Given the description of an element on the screen output the (x, y) to click on. 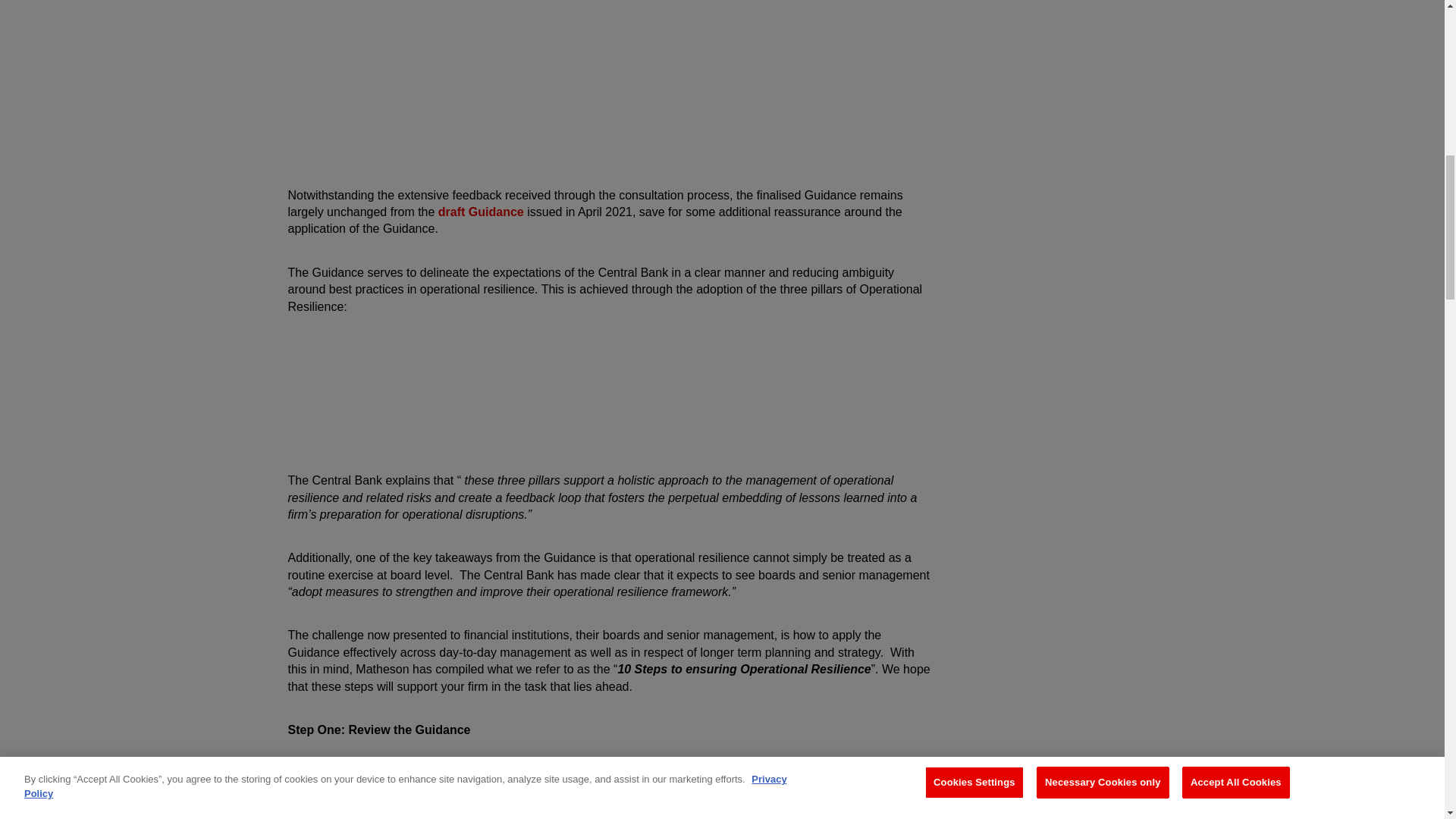
draft Guidance (481, 211)
